Given the description of an element on the screen output the (x, y) to click on. 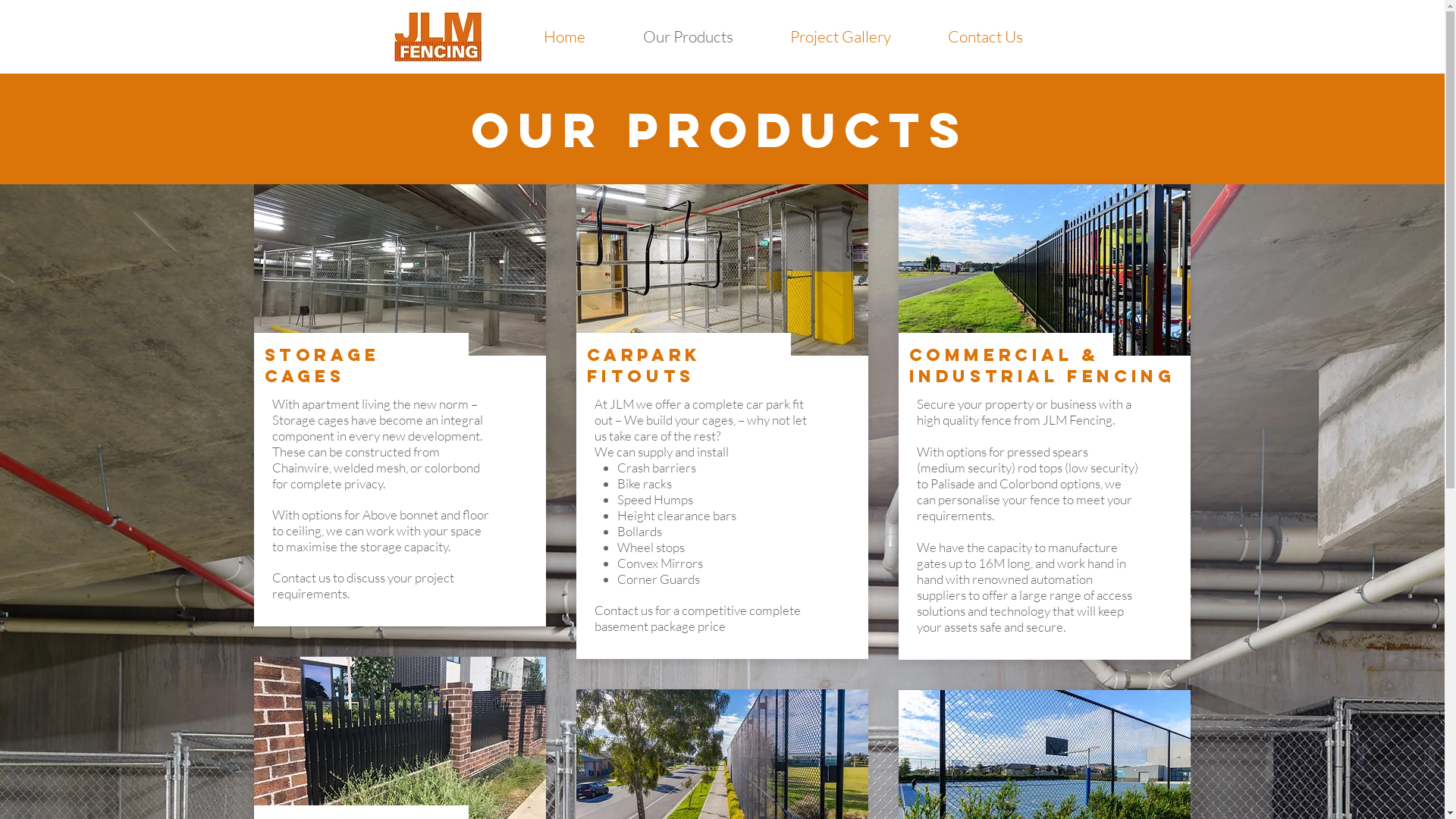
Home Element type: text (563, 36)
Our Products Element type: text (688, 36)
Contact Us Element type: text (985, 36)
Project Gallery Element type: text (840, 36)
